Given the description of an element on the screen output the (x, y) to click on. 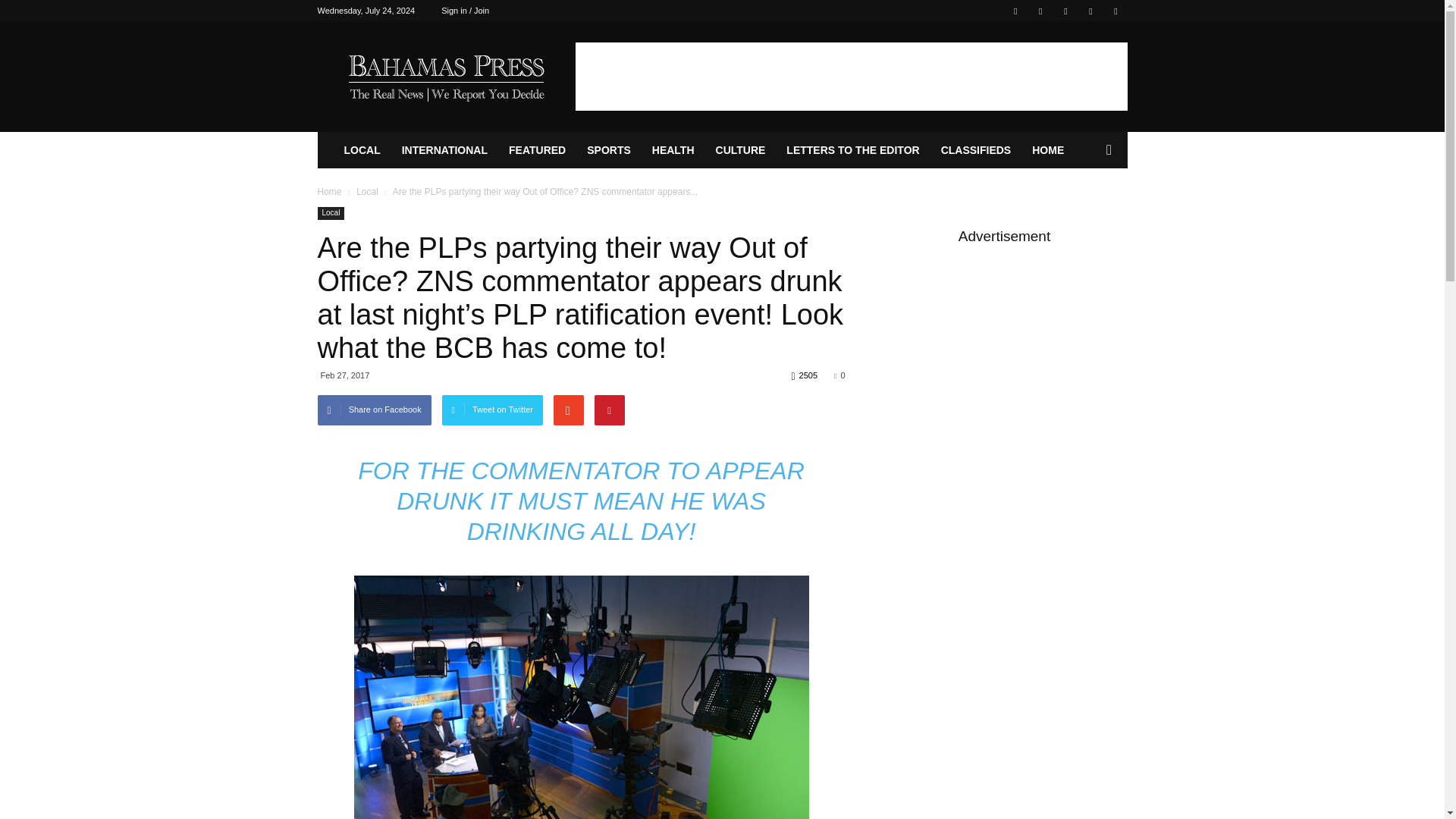
VKontakte (1090, 10)
Twitter (1040, 10)
SPORTS (609, 149)
Facebook (1015, 10)
FEATURED (536, 149)
Advertisement (850, 76)
View all posts in Local (367, 191)
CULTURE (740, 149)
Youtube (1114, 10)
Vimeo (1065, 10)
LOCAL (362, 149)
HEALTH (673, 149)
INTERNATIONAL (444, 149)
LETTERS TO THE EDITOR (853, 149)
